Given the description of an element on the screen output the (x, y) to click on. 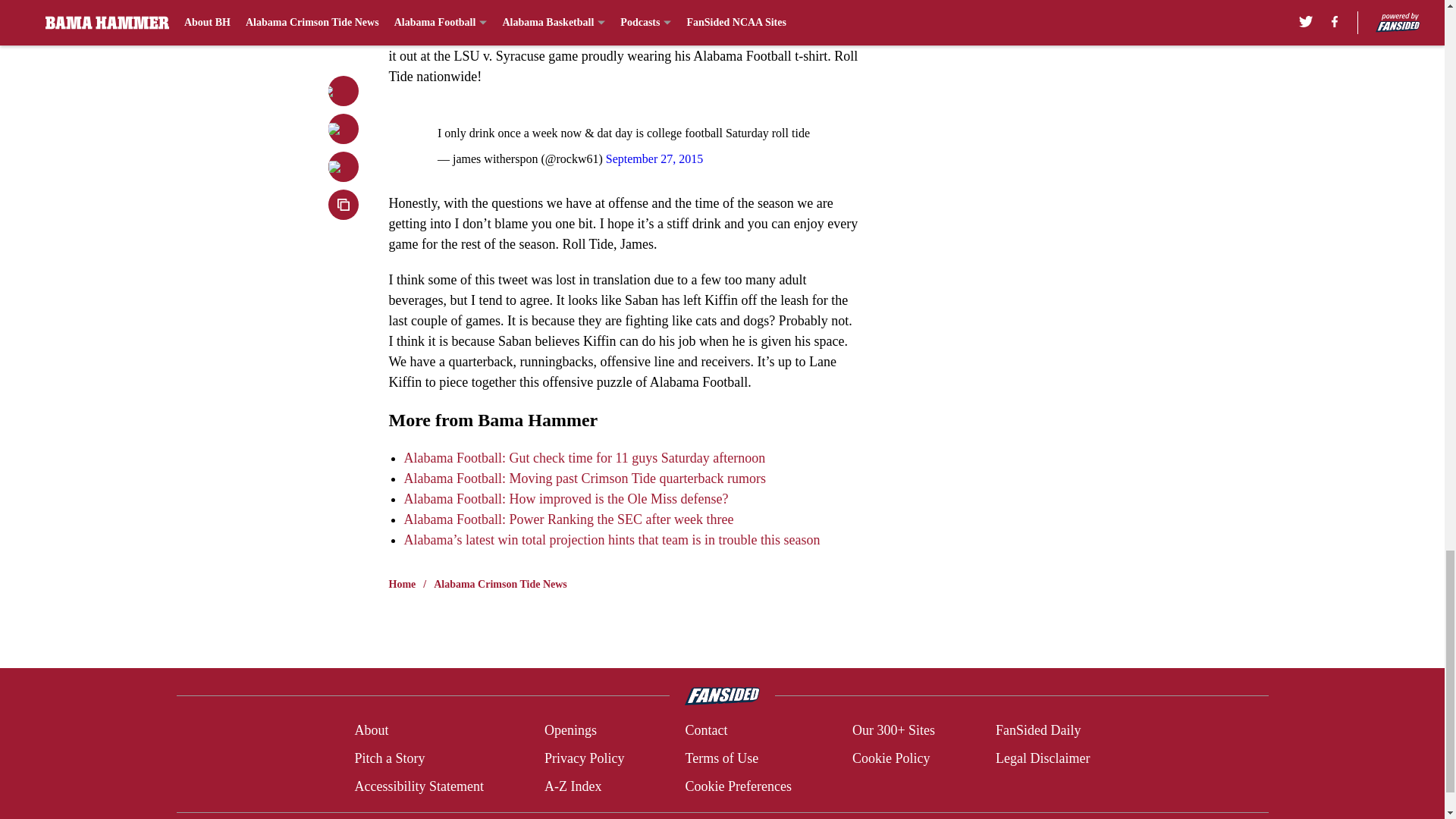
September 27, 2015 (654, 158)
Home (401, 584)
Openings (570, 730)
Alabama Crimson Tide News (500, 584)
About (370, 730)
Contact (705, 730)
Alabama Football: How improved is the Ole Miss defense? (565, 498)
Alabama Football: Power Ranking the SEC after week three (568, 519)
